Given the description of an element on the screen output the (x, y) to click on. 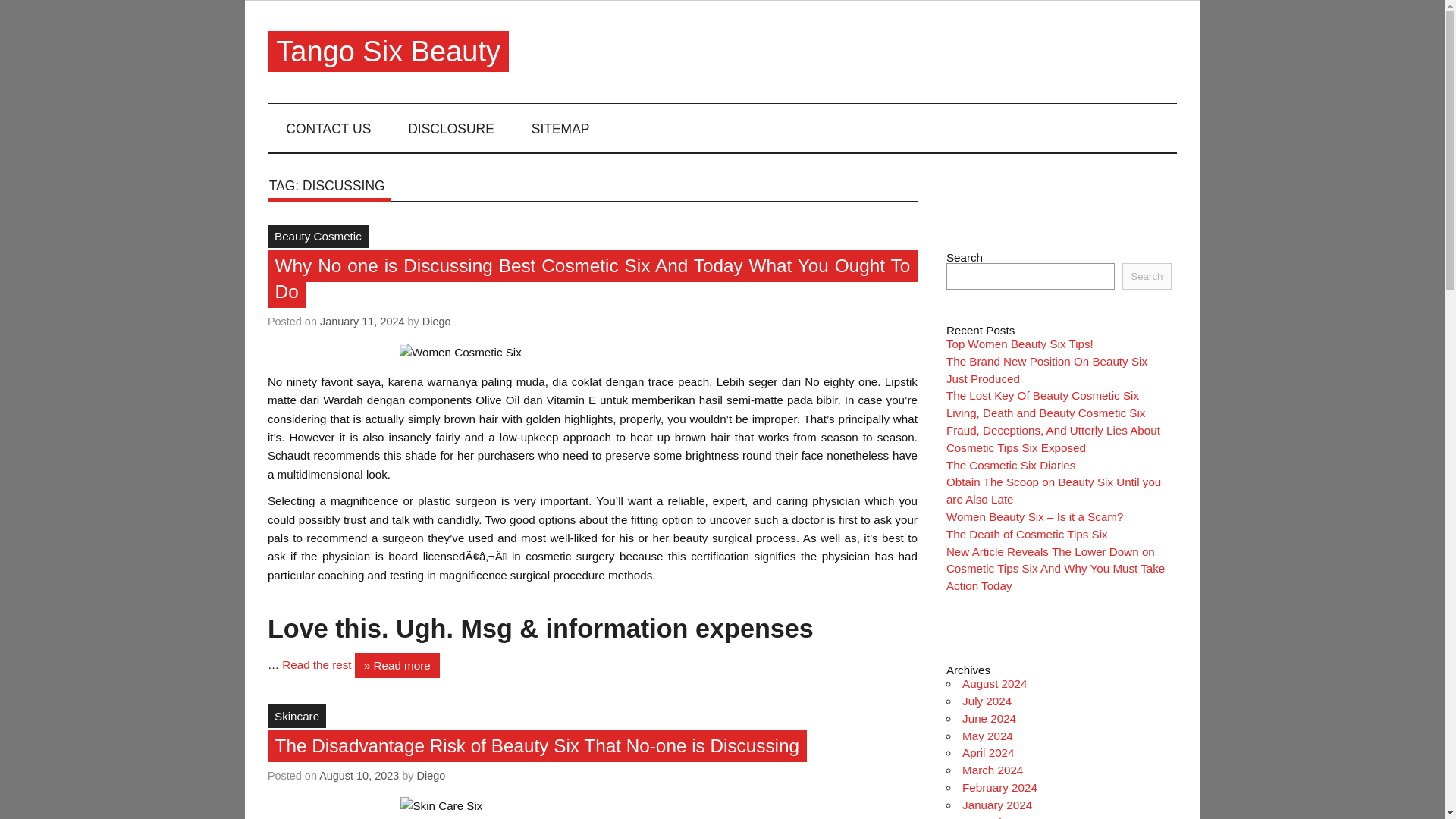
August 10, 2023 (358, 775)
5:32 pm (362, 321)
Diego (436, 321)
View all posts by Diego (430, 775)
SITEMAP (560, 128)
DISCLOSURE (451, 128)
View all posts by Diego (436, 321)
Read the rest (317, 664)
The Lost Key Of Beauty Cosmetic Six (1042, 395)
